Given the description of an element on the screen output the (x, y) to click on. 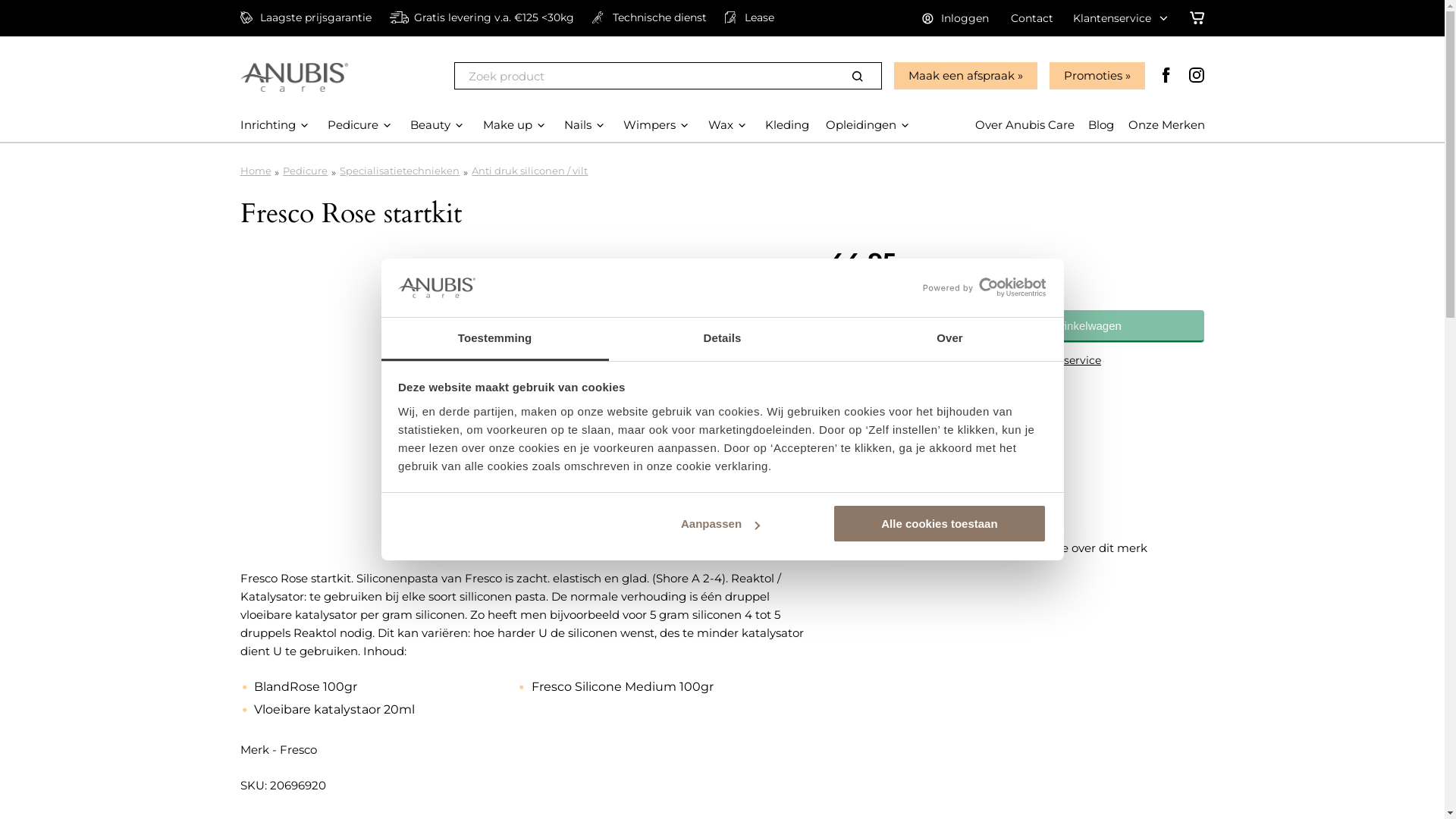
Anti druk siliconen / vilt Element type: text (529, 170)
Contact Element type: text (1031, 18)
Over Element type: text (949, 338)
Blog Element type: text (1100, 124)
Technische dienst Element type: text (649, 17)
Lease Element type: text (865, 447)
Wax Element type: text (720, 124)
Beauty Element type: text (430, 124)
Pedicure Element type: text (304, 170)
Technische dienst Element type: text (897, 429)
Pedicure Element type: text (352, 124)
Make up Element type: text (507, 124)
Klantenservice Element type: text (1121, 18)
klantenservice Element type: text (1062, 360)
Kleding Element type: text (787, 124)
Wimpers Element type: text (649, 124)
Aanpassen Element type: text (719, 523)
Fresco
Bekijk hier meer informatie over dit merk Element type: text (1016, 536)
Inloggen Element type: text (954, 18)
Over Anubis Care Element type: text (1024, 124)
Home Element type: text (254, 170)
Opleidingen Element type: text (860, 124)
Laagste prijsgarantie Element type: text (304, 17)
Inrichting Element type: text (266, 124)
Details Element type: text (721, 338)
Specialisatietechnieken Element type: text (399, 170)
Toestemming Element type: text (494, 338)
Print huidige pagina Element type: text (905, 476)
Lease Element type: text (749, 17)
Plaats in de winkelwagen Element type: text (1040, 326)
Onze Merken Element type: text (1166, 124)
Nails Element type: text (577, 124)
Promoties Element type: text (1097, 75)
Maak een afspraak Element type: text (964, 75)
Laagste prijsgarantie Element type: text (906, 394)
Alle cookies toestaan Element type: text (939, 523)
